Given the description of an element on the screen output the (x, y) to click on. 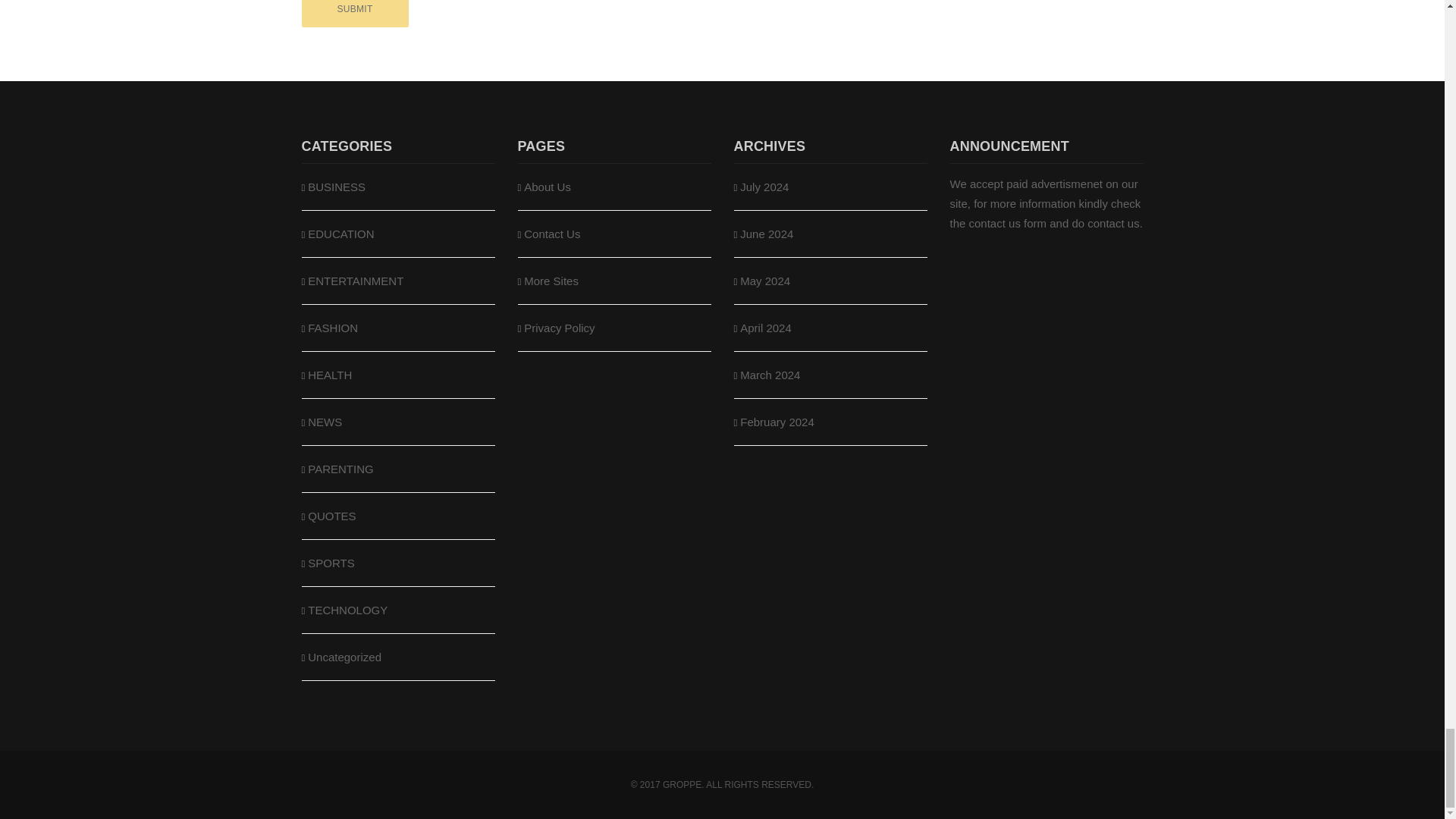
Submit (355, 13)
